Given the description of an element on the screen output the (x, y) to click on. 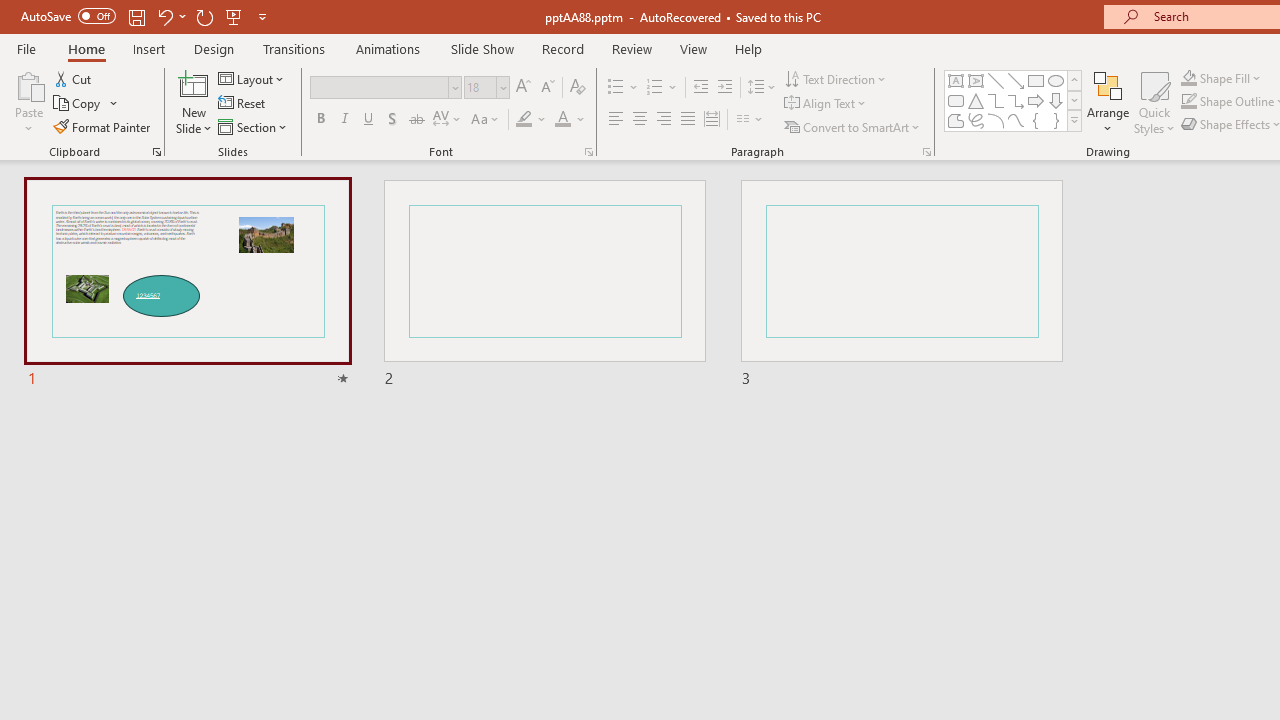
Copy (78, 103)
Decrease Indent (700, 87)
New Slide (193, 84)
Convert to SmartArt (853, 126)
Oval (1055, 80)
Format Painter (103, 126)
Text Highlight Color (531, 119)
Shape Fill (1221, 78)
Class: NetUIImage (1075, 120)
